Given the description of an element on the screen output the (x, y) to click on. 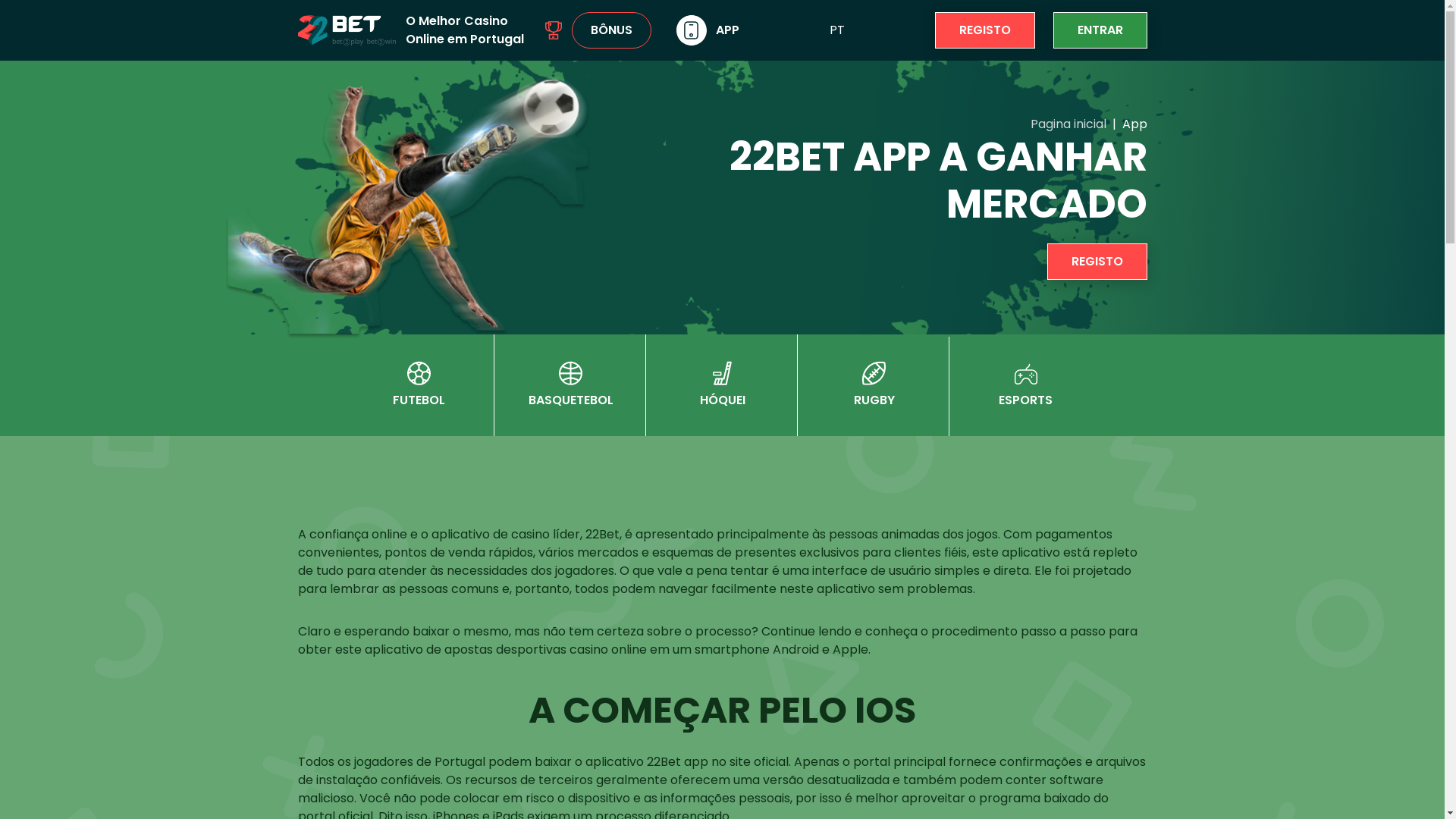
Basquetebol Element type: hover (570, 372)
BASQUETEBOL Element type: text (569, 385)
eSports Element type: hover (1025, 374)
App Element type: hover (691, 30)
RUGBY Element type: text (873, 385)
Rugby Element type: hover (873, 372)
22Bet Portugal Element type: hover (346, 30)
REGISTO Element type: text (984, 30)
ESPORTS Element type: text (1024, 386)
FUTEBOL Element type: text (418, 385)
PT Element type: text (836, 30)
22Bet Portugal Link Element type: hover (407, 201)
Pagina inicial Element type: text (1067, 124)
REGISTO Element type: text (1096, 261)
APP Element type: text (707, 30)
ENTRAR Element type: text (1099, 30)
futebol Element type: hover (418, 372)
